Given the description of an element on the screen output the (x, y) to click on. 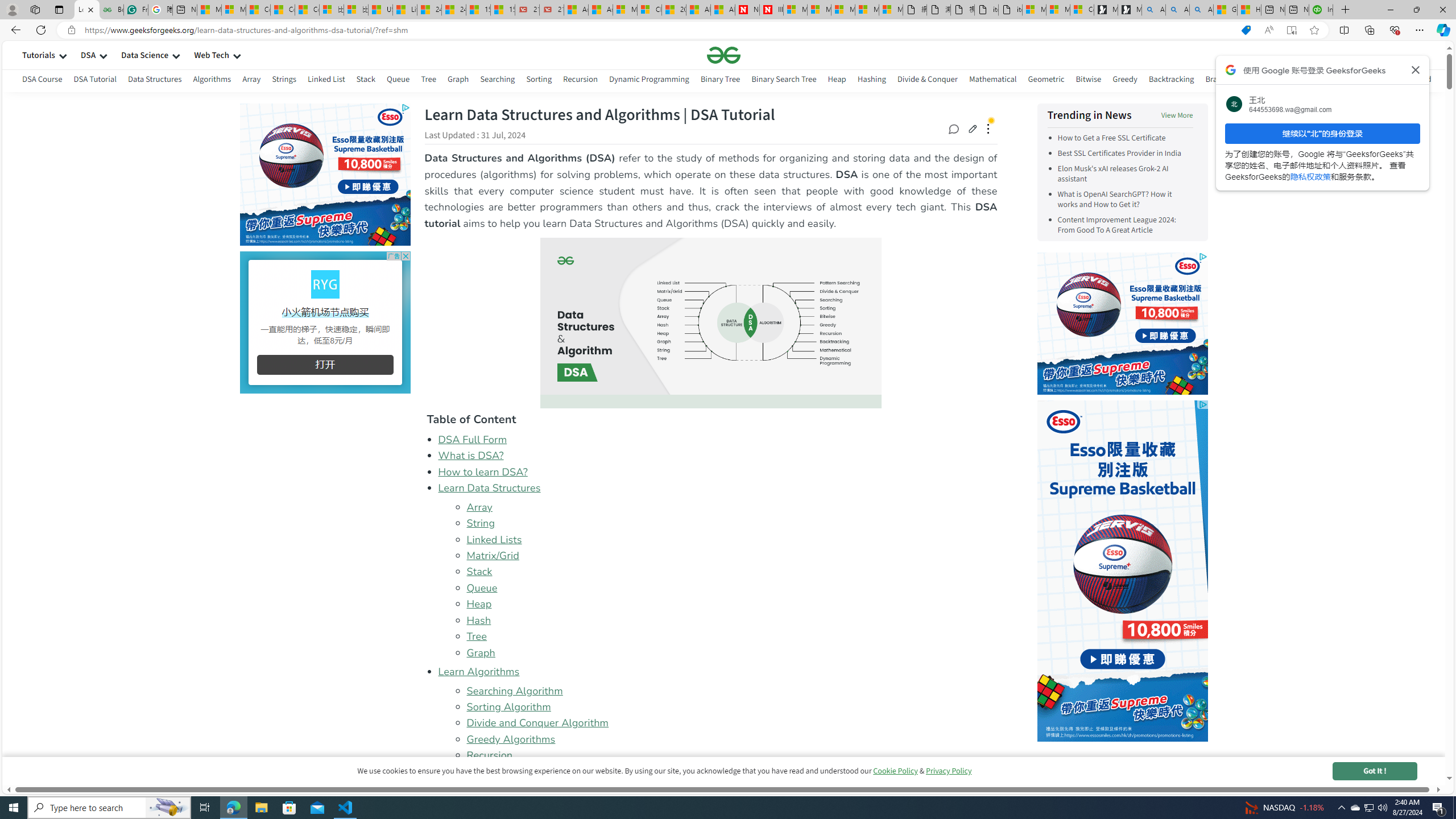
15 Ways Modern Life Contradicts the Teachings of Jesus (502, 9)
Cloud Computing Services | Microsoft Azure (648, 9)
21 Movies That Outdid the Books They Were Based On (551, 9)
Hash (478, 620)
Backtracking (1170, 79)
Graph (480, 652)
Heap (478, 604)
Greedy Algorithms (731, 738)
Illness news & latest pictures from Newsweek.com (770, 9)
Elon Musk's xAI releases Grok-2 AI assistant (1125, 173)
Binary Search Tree (783, 79)
Class: Bz112c Bz112c-r9oPif (1415, 69)
